Given the description of an element on the screen output the (x, y) to click on. 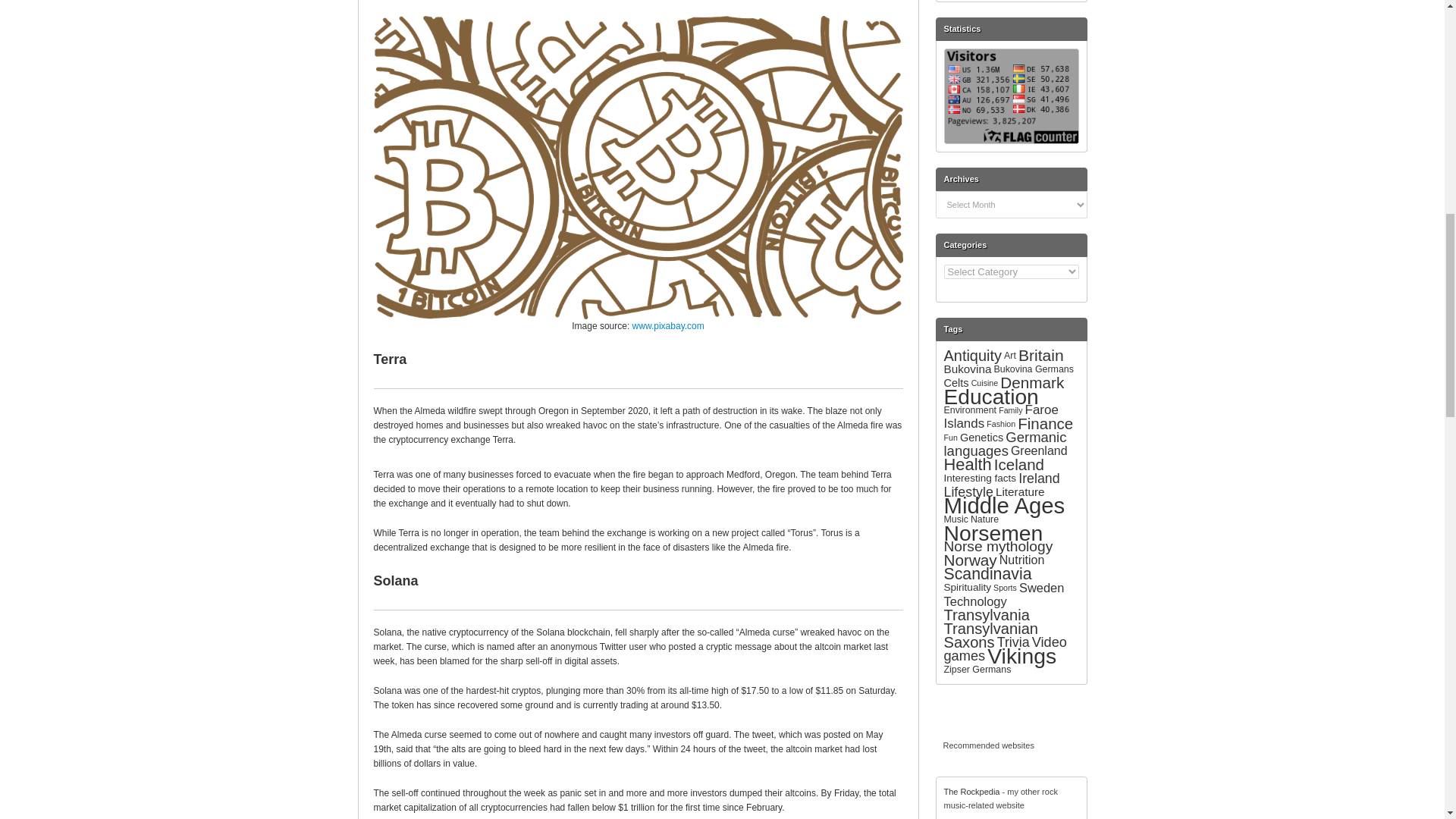
Antiquity (972, 355)
Genetics (981, 437)
Education (990, 396)
Environment (969, 409)
Fashion (1000, 423)
Finance (1045, 423)
www.pixabay.com (667, 326)
Fun (949, 437)
Bukovina (967, 368)
Denmark (1032, 382)
